Given the description of an element on the screen output the (x, y) to click on. 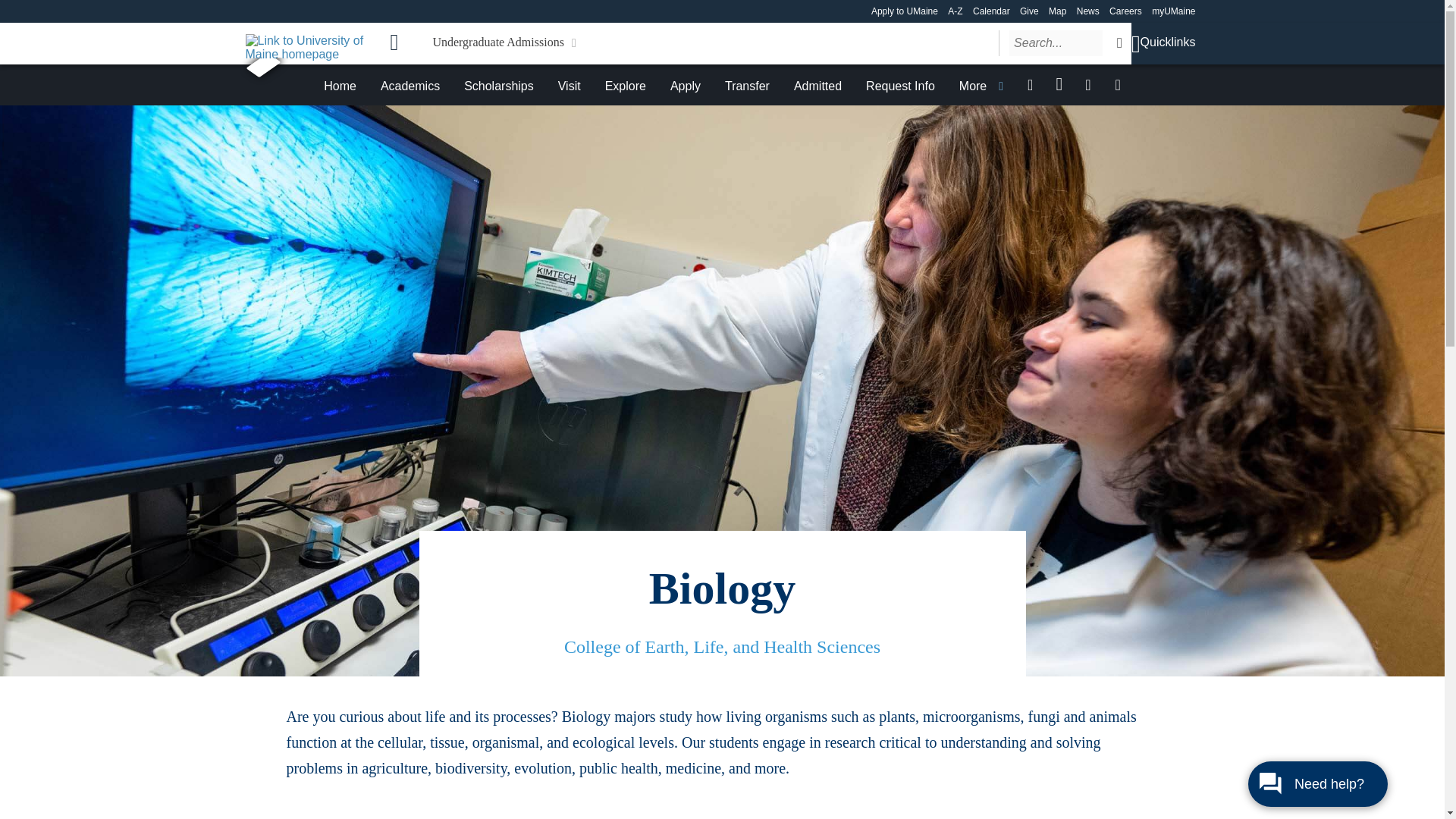
Careers (1125, 10)
myUMaine (1173, 10)
Apply to UMaine (903, 10)
Search for: (1055, 43)
News (1088, 10)
A-Z (954, 10)
Undergraduate Admissions (503, 42)
Map (1056, 10)
Give (1029, 10)
Search (1119, 42)
Calendar (991, 10)
